Given the description of an element on the screen output the (x, y) to click on. 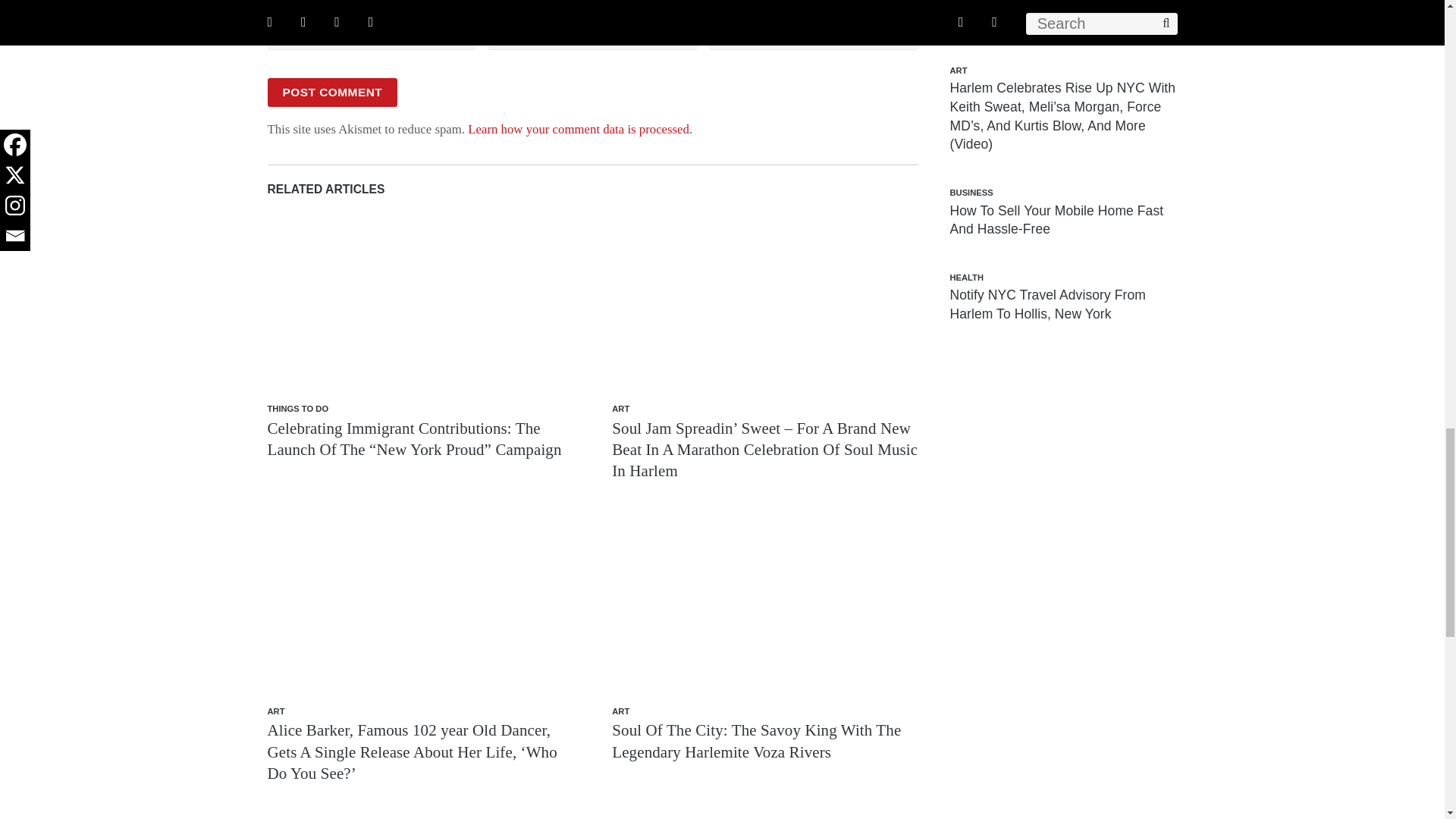
Learn how your comment data is processed (577, 129)
Post Comment (331, 92)
Post Comment (331, 92)
